Given the description of an element on the screen output the (x, y) to click on. 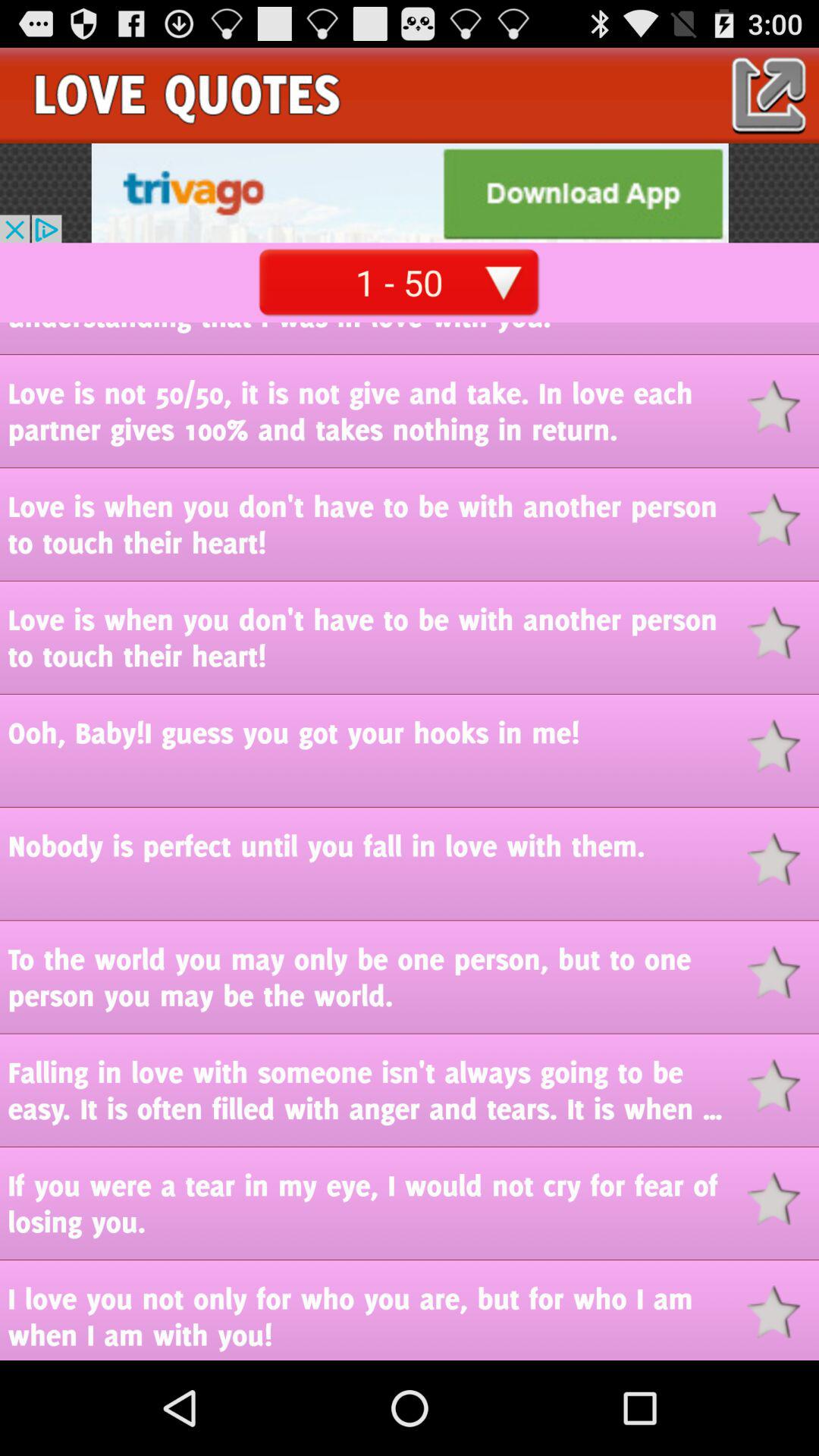
favorite the quote (783, 406)
